Given the description of an element on the screen output the (x, y) to click on. 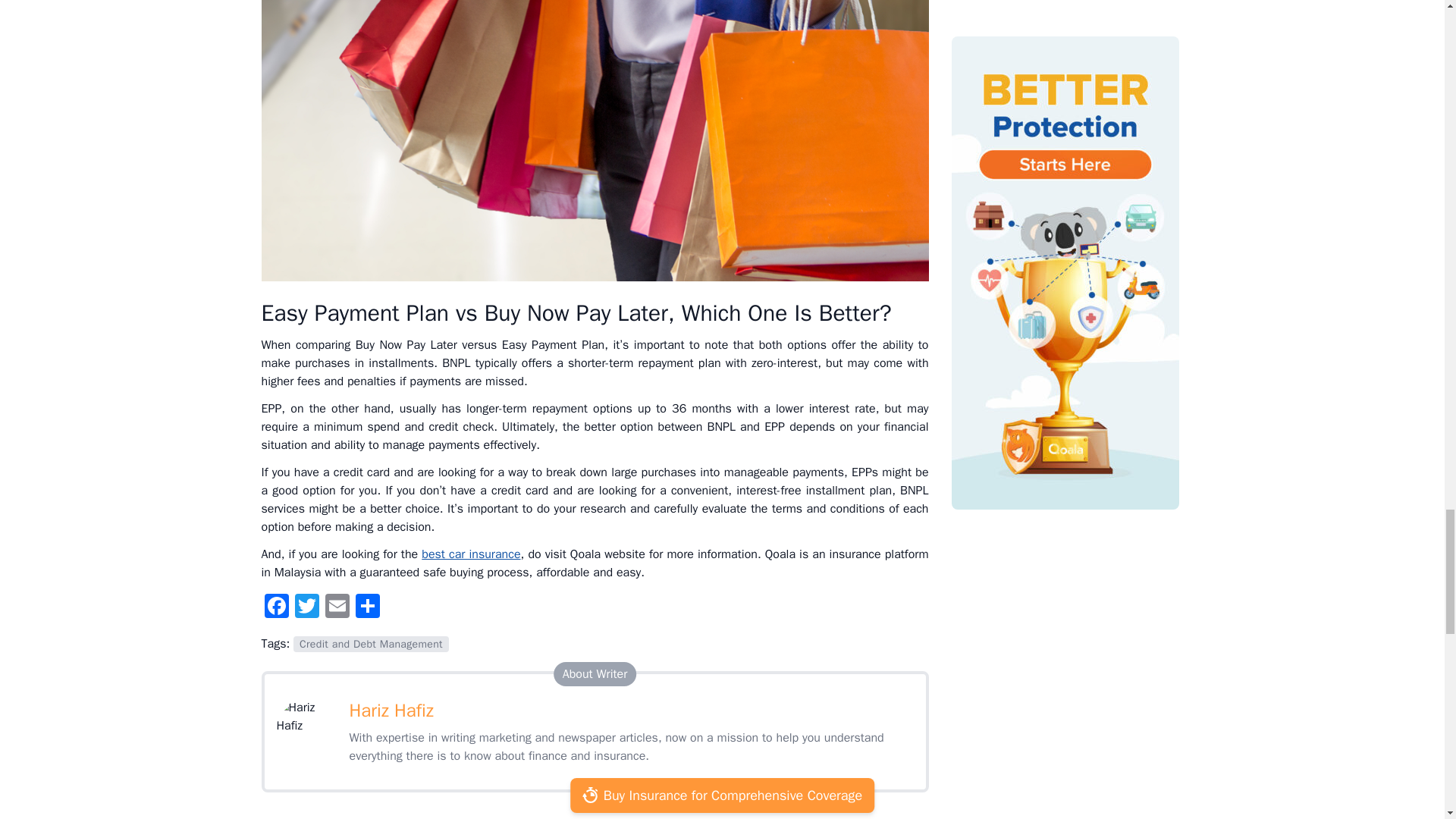
Hariz Hafiz (390, 710)
Credit and Debt Management (371, 643)
Facebook (275, 607)
Facebook (275, 607)
Share (366, 607)
Twitter (306, 607)
Email (336, 607)
Twitter (306, 607)
best car insurance (470, 554)
